Given the description of an element on the screen output the (x, y) to click on. 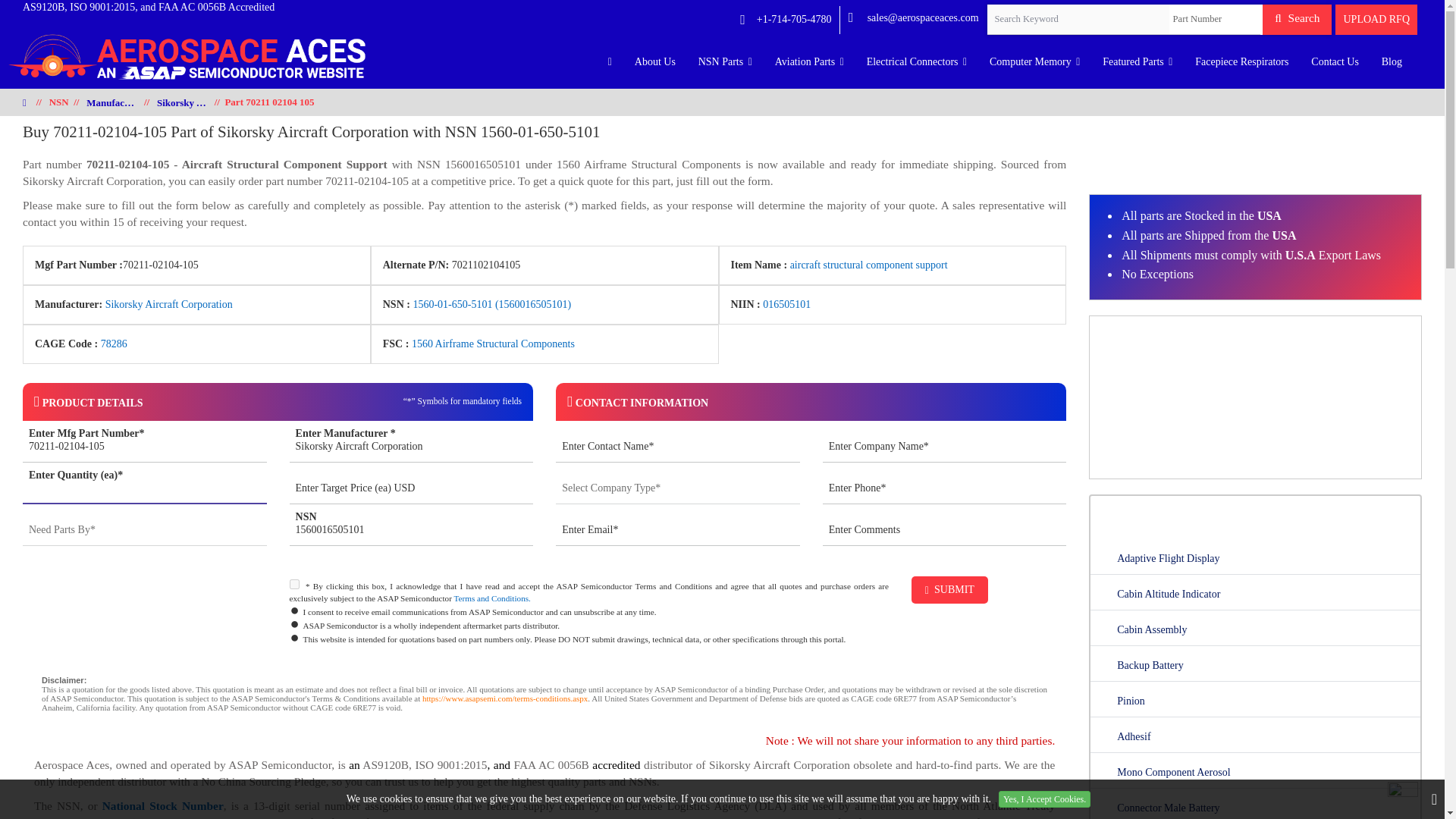
70211-02104-105 (144, 447)
1560016505101 (411, 530)
Aviation Parts (809, 62)
on (294, 583)
disclaimer (543, 698)
Sikorsky Aircraft Corporation (411, 447)
Featured Parts (1136, 62)
Electrical Connectors (917, 62)
UPLOAD RFQ (1375, 19)
Computer Memory (1034, 62)
NSN Parts (724, 62)
About Us (655, 62)
